Given the description of an element on the screen output the (x, y) to click on. 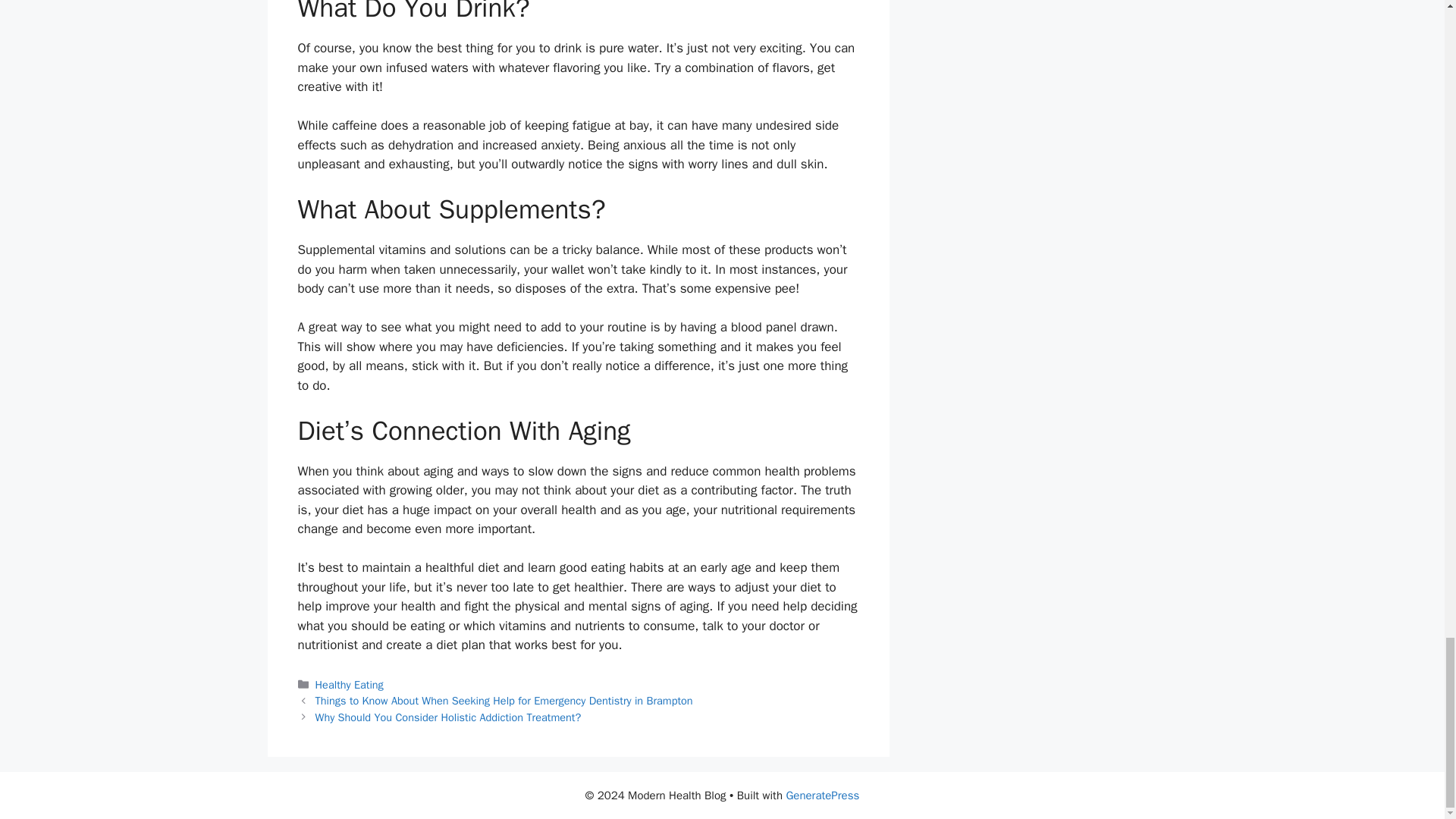
Why Should You Consider Holistic Addiction Treatment? (447, 716)
GeneratePress (822, 795)
Healthy Eating (349, 684)
